Given the description of an element on the screen output the (x, y) to click on. 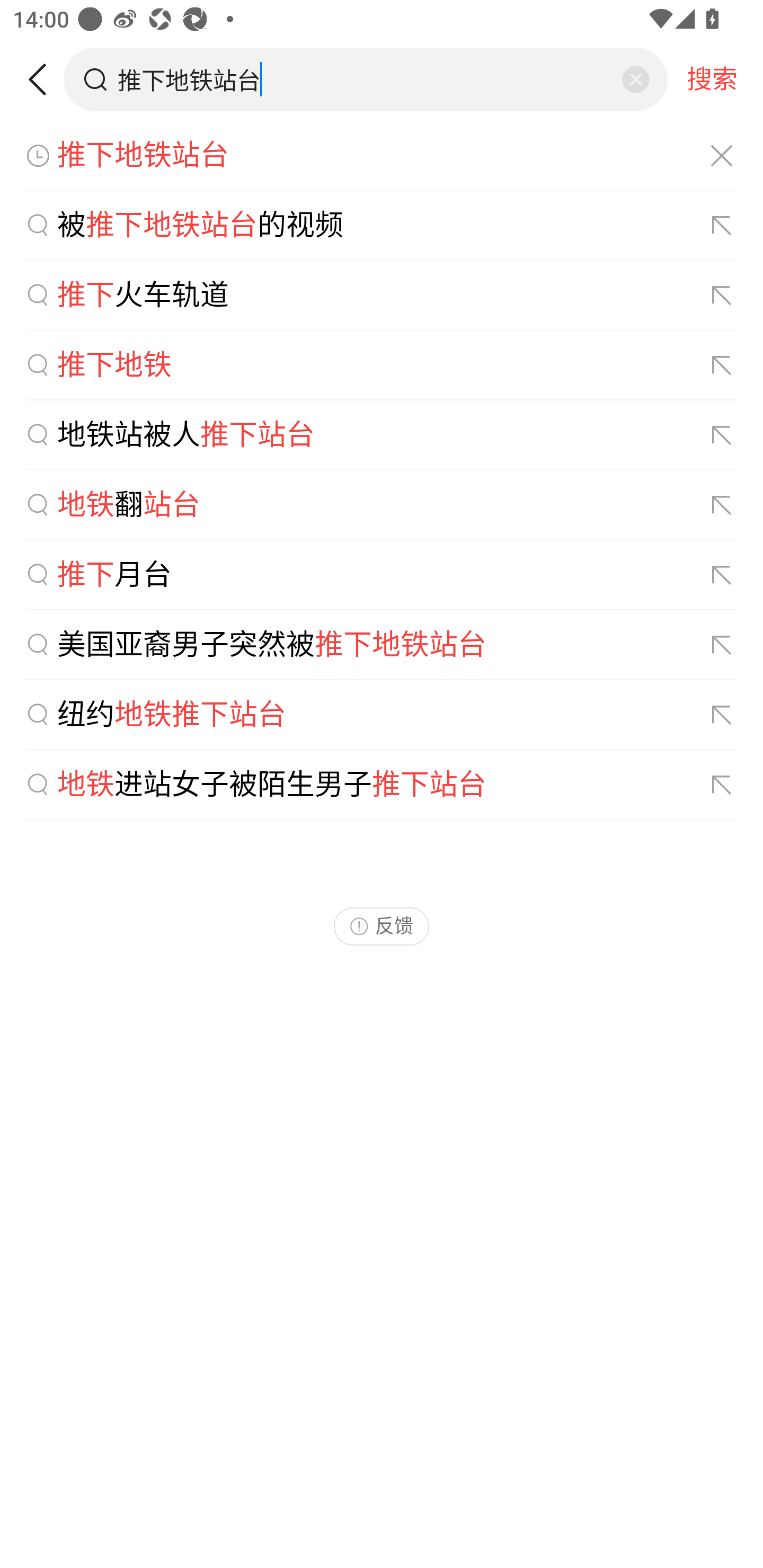
搜索框，推下地铁站台 (366, 79)
搜索 (711, 79)
返回 (44, 79)
清除 (635, 79)
推下地铁站台 (381, 155)
AI问答 (34, 148)
被推下地铁站台的视频 填充搜索词被推下地铁站台的视频至搜索框 (381, 225)
填充搜索词被推下地铁站台的视频至搜索框 (721, 225)
填充搜索词推下火车轨道至搜索框 (721, 295)
昨天02:05534阅读 (381, 361)
填充搜索词推下地铁至搜索框 (721, 365)
地铁站被人推下站台 填充搜索词地铁站被人推下站台至搜索框 (381, 434)
填充搜索词地铁站被人推下站台至搜索框 (721, 435)
地铁翻站台 填充搜索词地铁翻站台至搜索框 (381, 505)
填充搜索词地铁翻站台至搜索框 (721, 504)
推下月台 填充搜索词推下月台至搜索框 (381, 574)
填充搜索词推下月台至搜索框 (721, 575)
美国亚裔男子突然被推下地铁站台 填充搜索词美国亚裔男子突然被推下地铁站台至搜索框 (381, 644)
填充搜索词美国亚裔男子突然被推下地铁站台至搜索框 (721, 644)
纽约地铁推下站台 填充搜索词纽约地铁推下站台至搜索框 (381, 714)
填充搜索词纽约地铁推下站台至搜索框 (721, 714)
地铁进站女子被陌生男子推下站台 填充搜索词地铁进站女子被陌生男子推下站台至搜索框 (381, 784)
填充搜索词地铁进站女子被陌生男子推下站台至搜索框 (721, 785)
反馈 (381, 926)
